Given the description of an element on the screen output the (x, y) to click on. 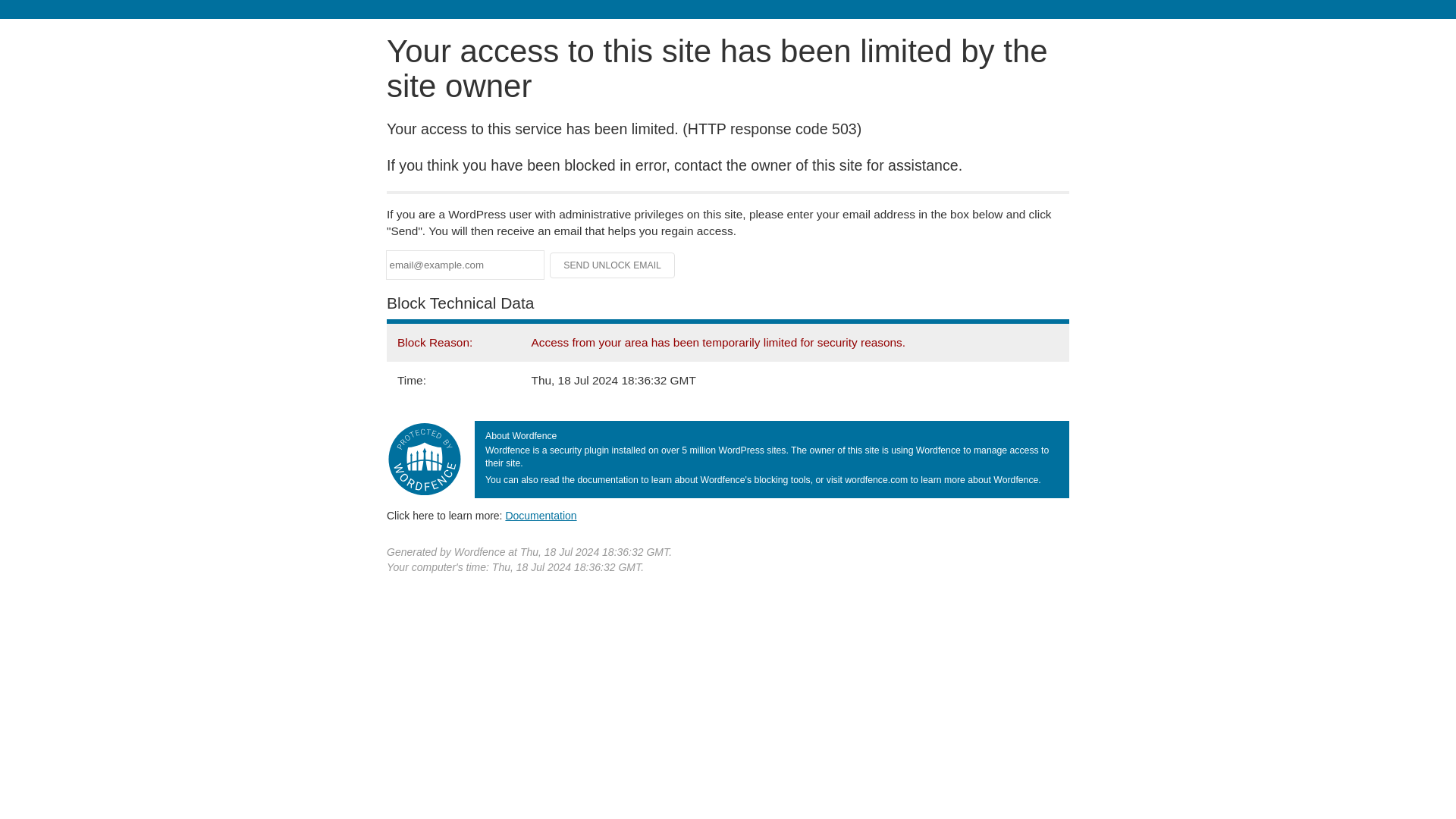
Send Unlock Email (612, 265)
Send Unlock Email (612, 265)
Documentation (540, 515)
